Given the description of an element on the screen output the (x, y) to click on. 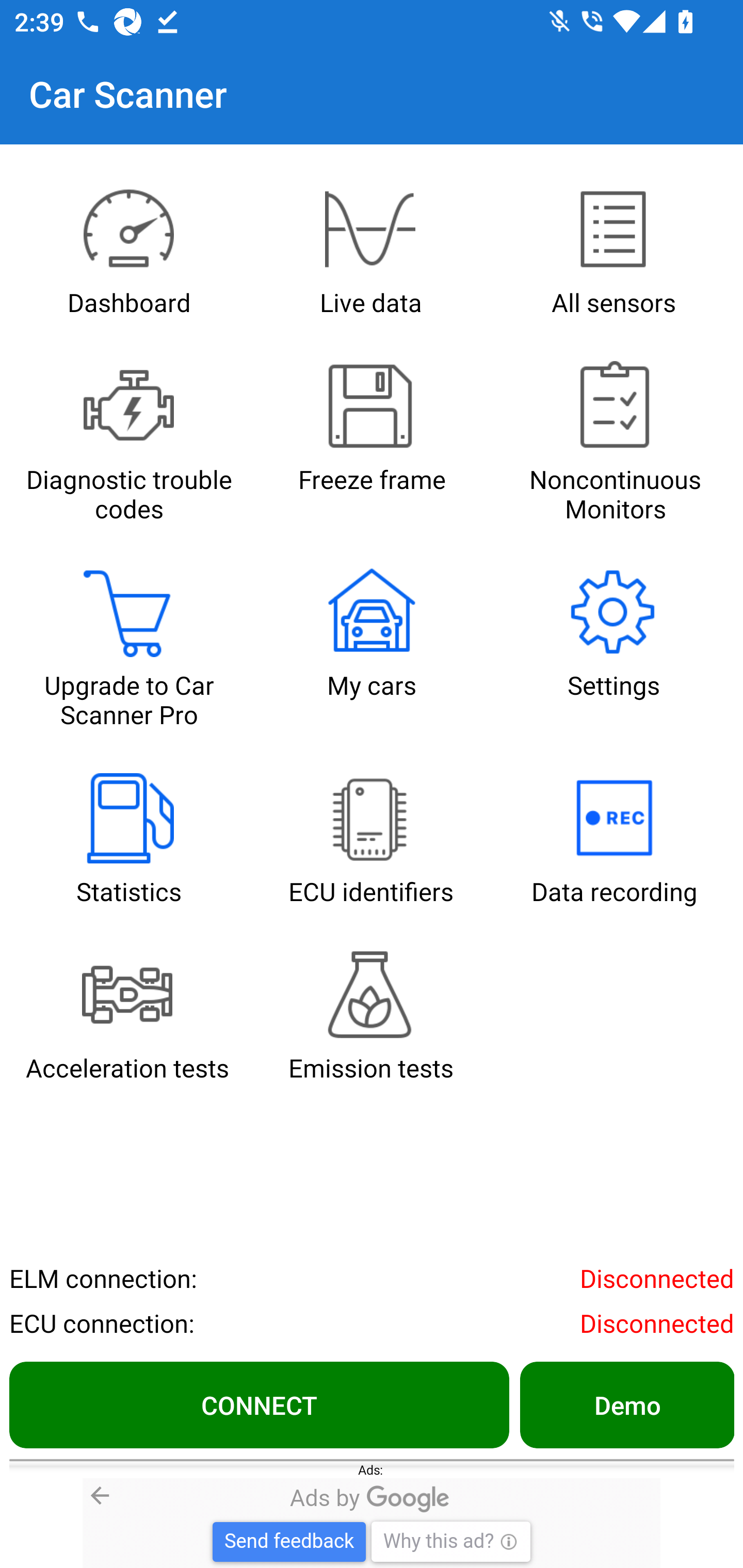
CONNECT (258, 1404)
Demo (627, 1404)
